Given the description of an element on the screen output the (x, y) to click on. 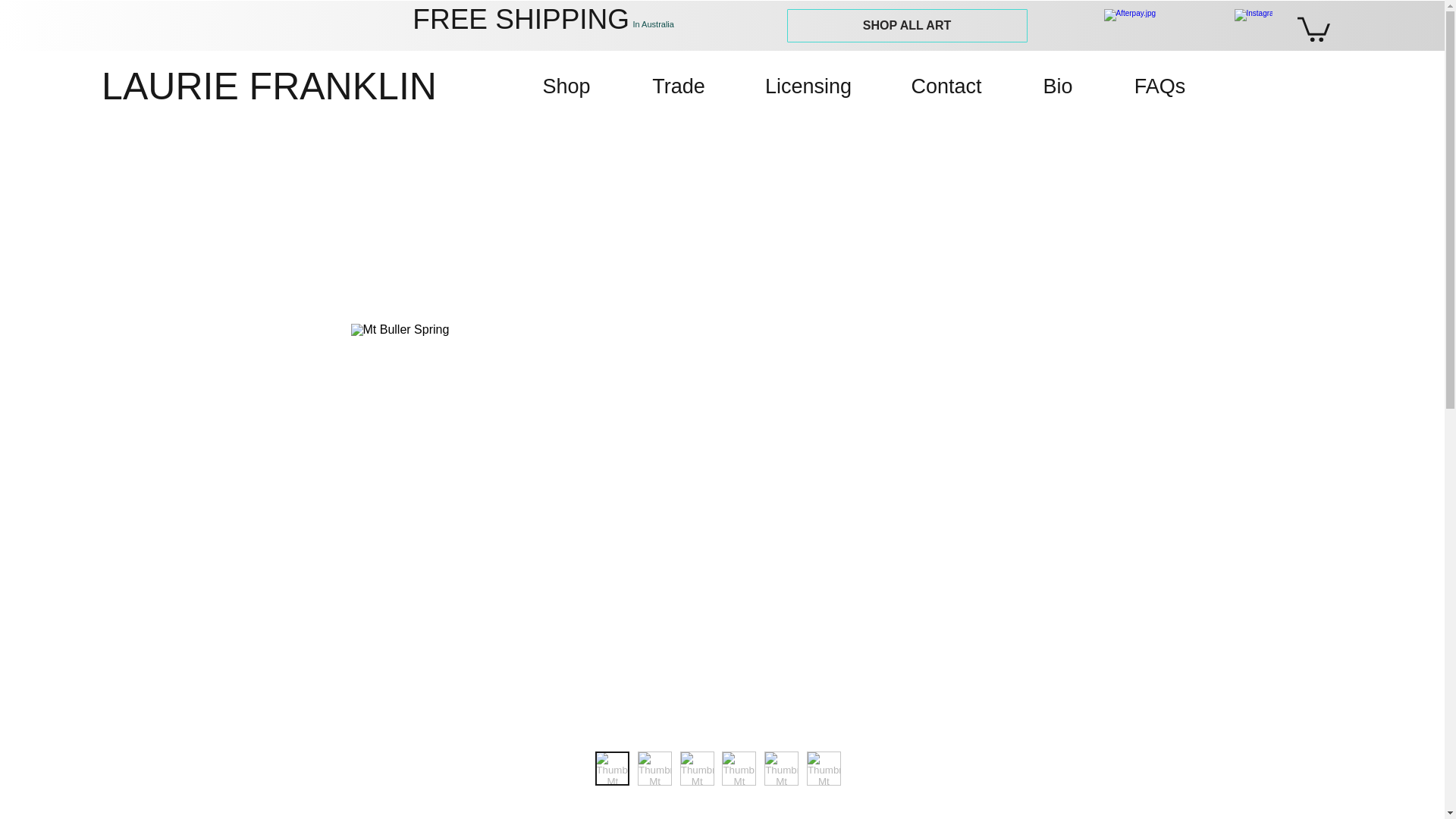
Contact (945, 86)
SHOP ALL ART (907, 25)
Licensing (807, 86)
Trade (678, 86)
Bio (1057, 86)
LAURIE FRANKLIN (294, 86)
FAQs (1159, 86)
Shop (566, 86)
